Given the description of an element on the screen output the (x, y) to click on. 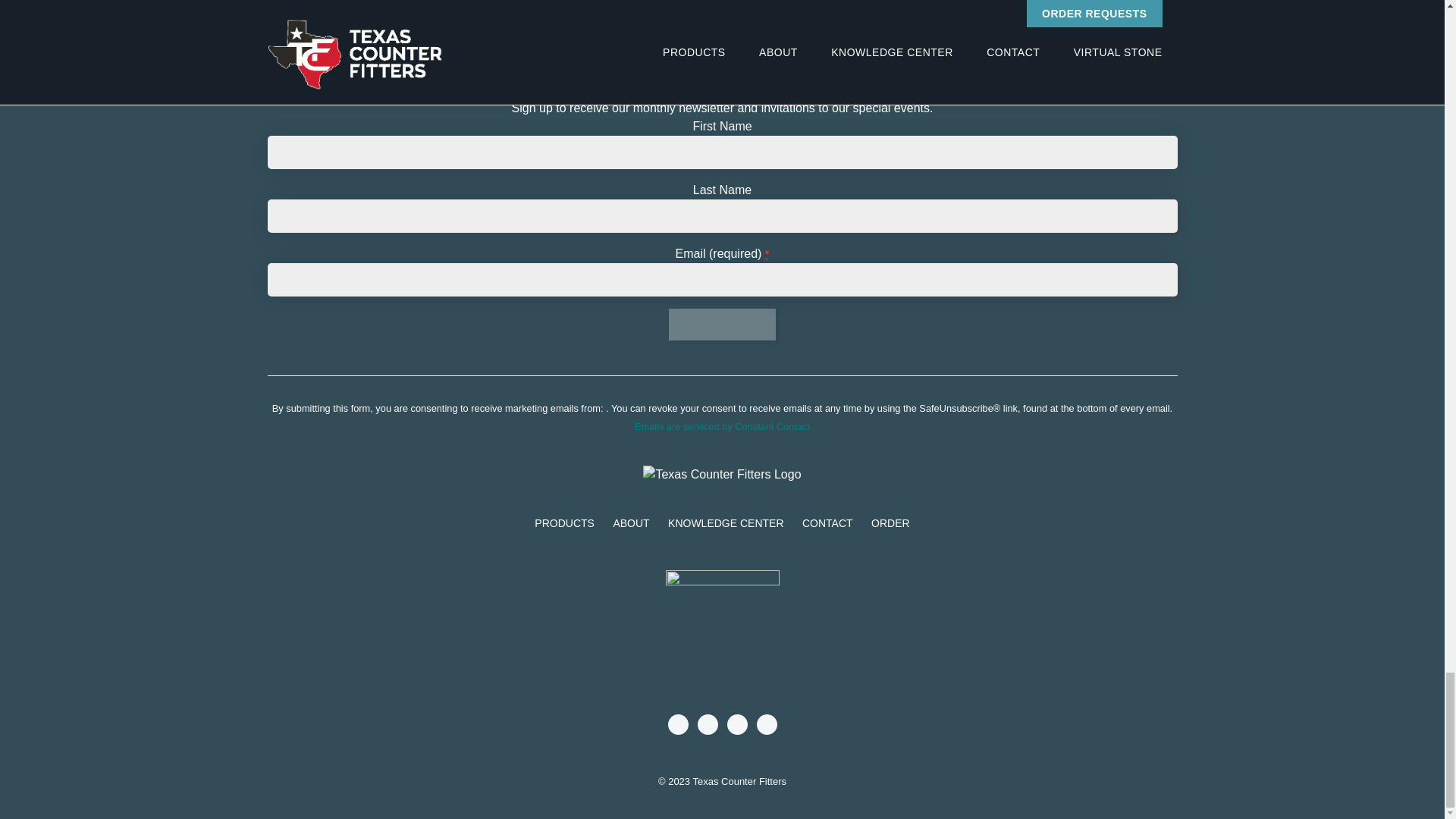
Sign up (722, 324)
ORDER (890, 523)
KNOWLEDGE CENTER (725, 523)
PRODUCTS (564, 523)
ABOUT (630, 523)
Emails are serviced by Constant Contact (721, 426)
Sign up (722, 324)
CONTACT (827, 523)
